Given the description of an element on the screen output the (x, y) to click on. 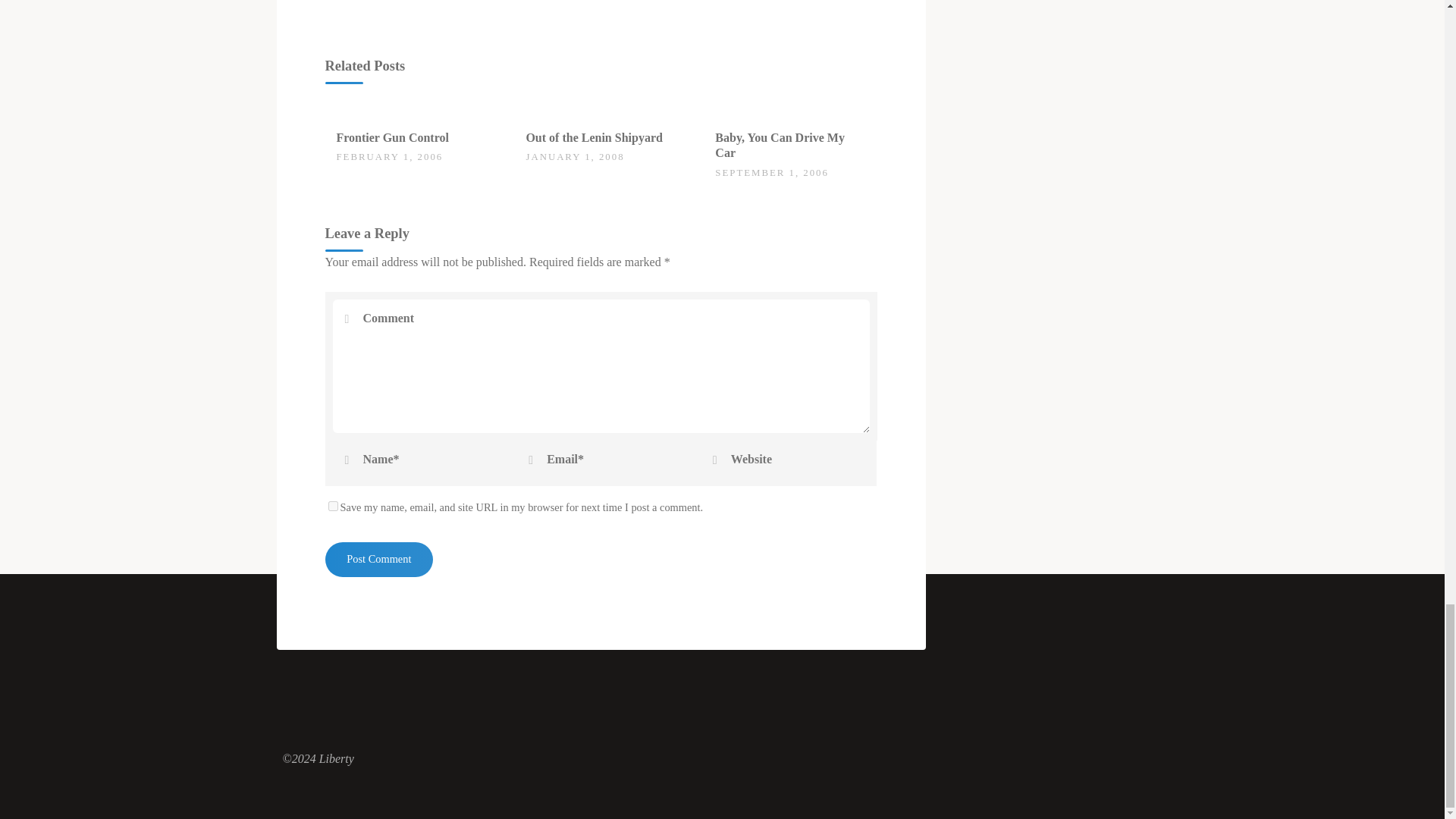
yes (332, 506)
Post Comment (378, 559)
Frontier Gun Control (392, 137)
